Given the description of an element on the screen output the (x, y) to click on. 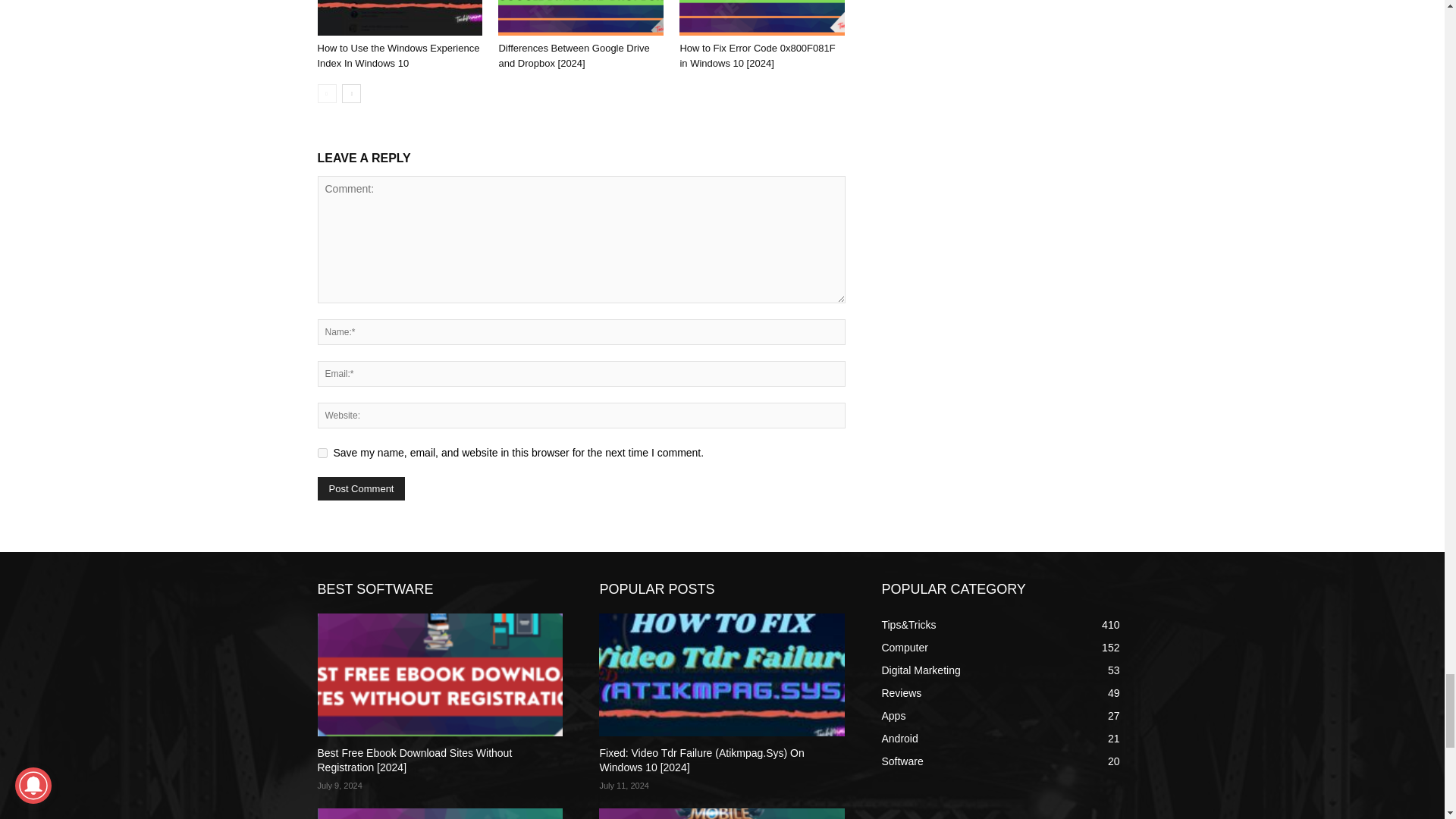
Post Comment (360, 488)
yes (321, 452)
